Given the description of an element on the screen output the (x, y) to click on. 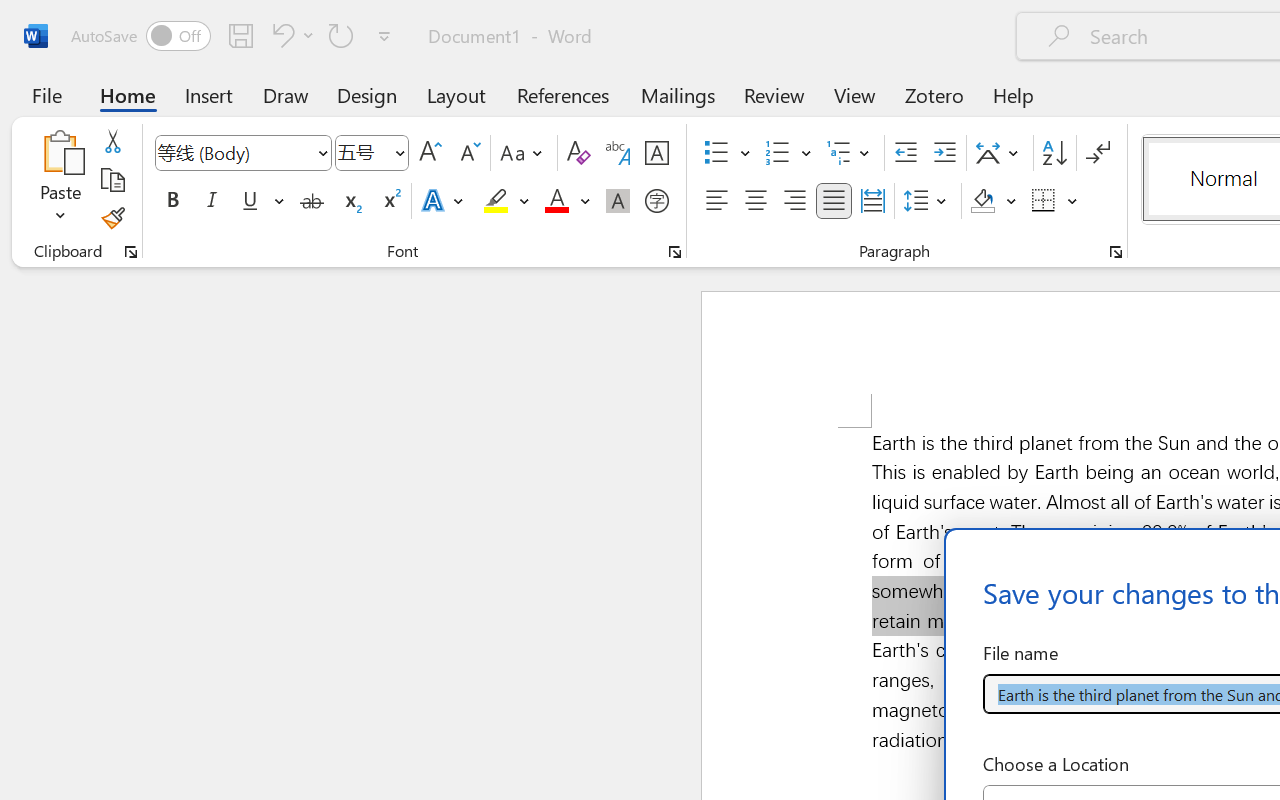
Undo Paste Text Only (290, 35)
Show/Hide Editing Marks (1098, 153)
Text Highlight Color (506, 201)
Open (399, 152)
Asian Layout (1000, 153)
Character Shading (618, 201)
